Given the description of an element on the screen output the (x, y) to click on. 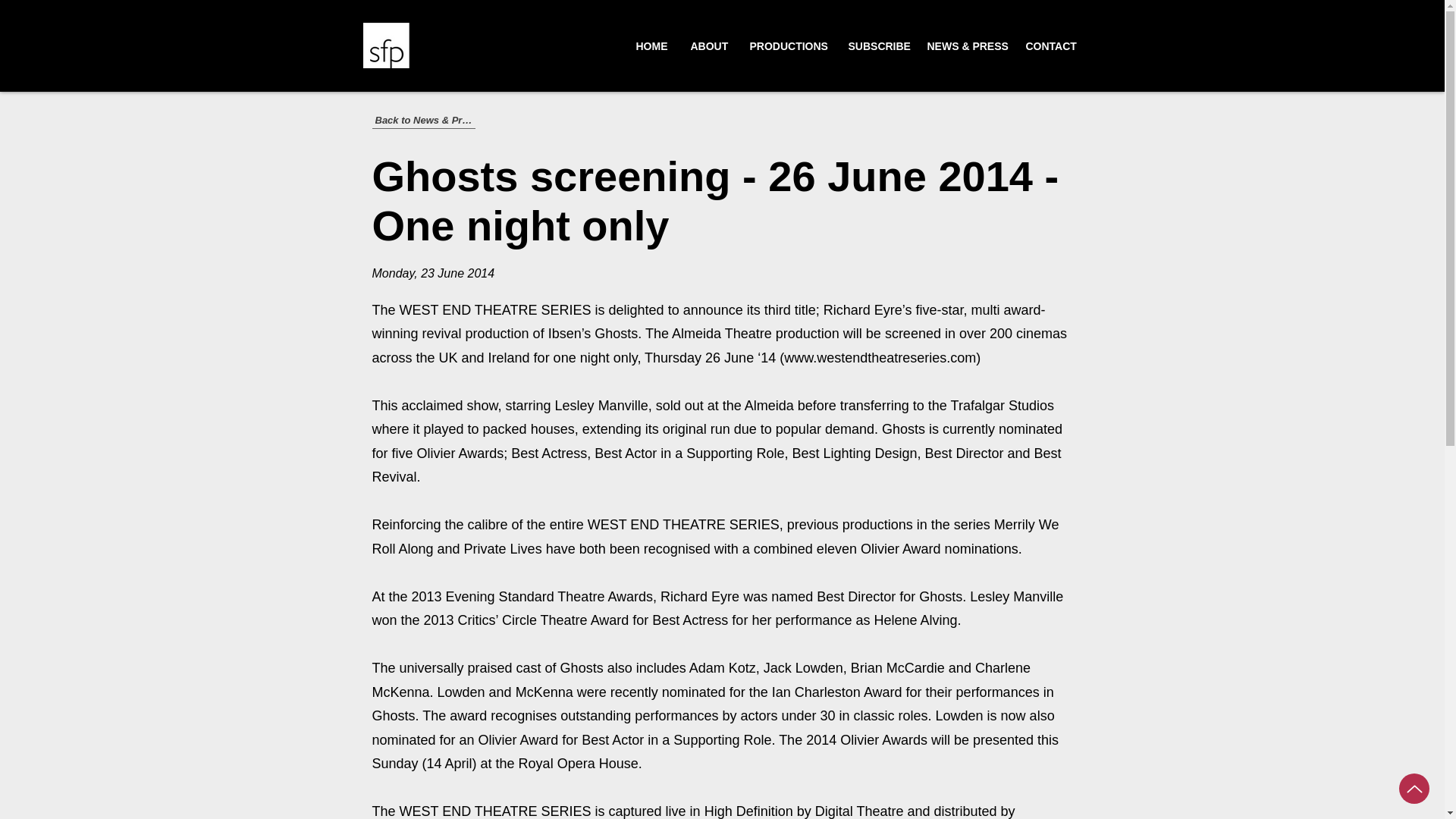
HOME (650, 46)
PRODUCTIONS (787, 46)
www.westendtheatreseries.com (879, 357)
CONTACT (1050, 46)
SUBSCRIBE (876, 46)
ABOUT (708, 46)
